Given the description of an element on the screen output the (x, y) to click on. 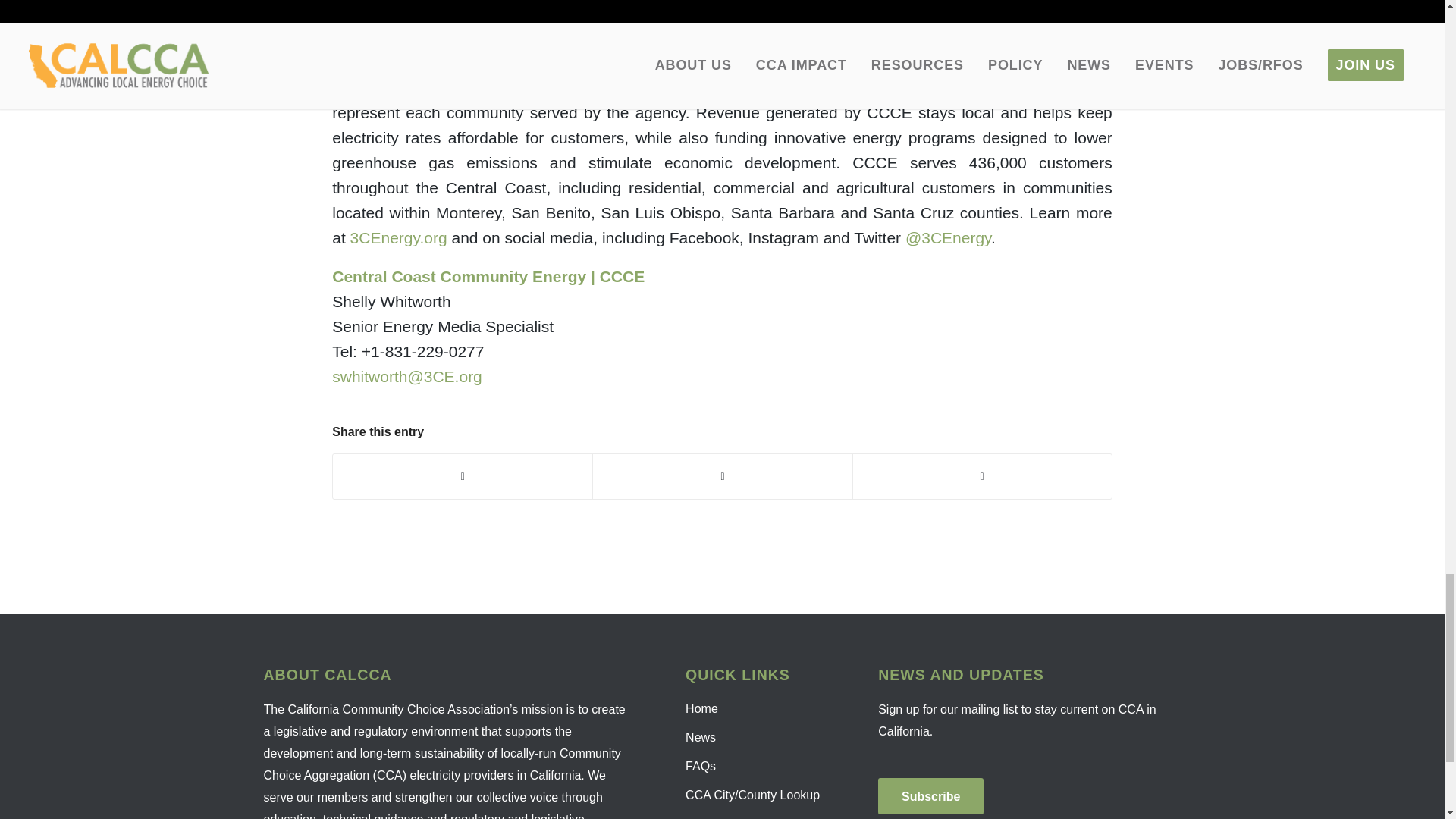
3CEnergy.org (398, 237)
Contact (754, 814)
Home (754, 708)
News (754, 737)
FAQs (754, 766)
